Given the description of an element on the screen output the (x, y) to click on. 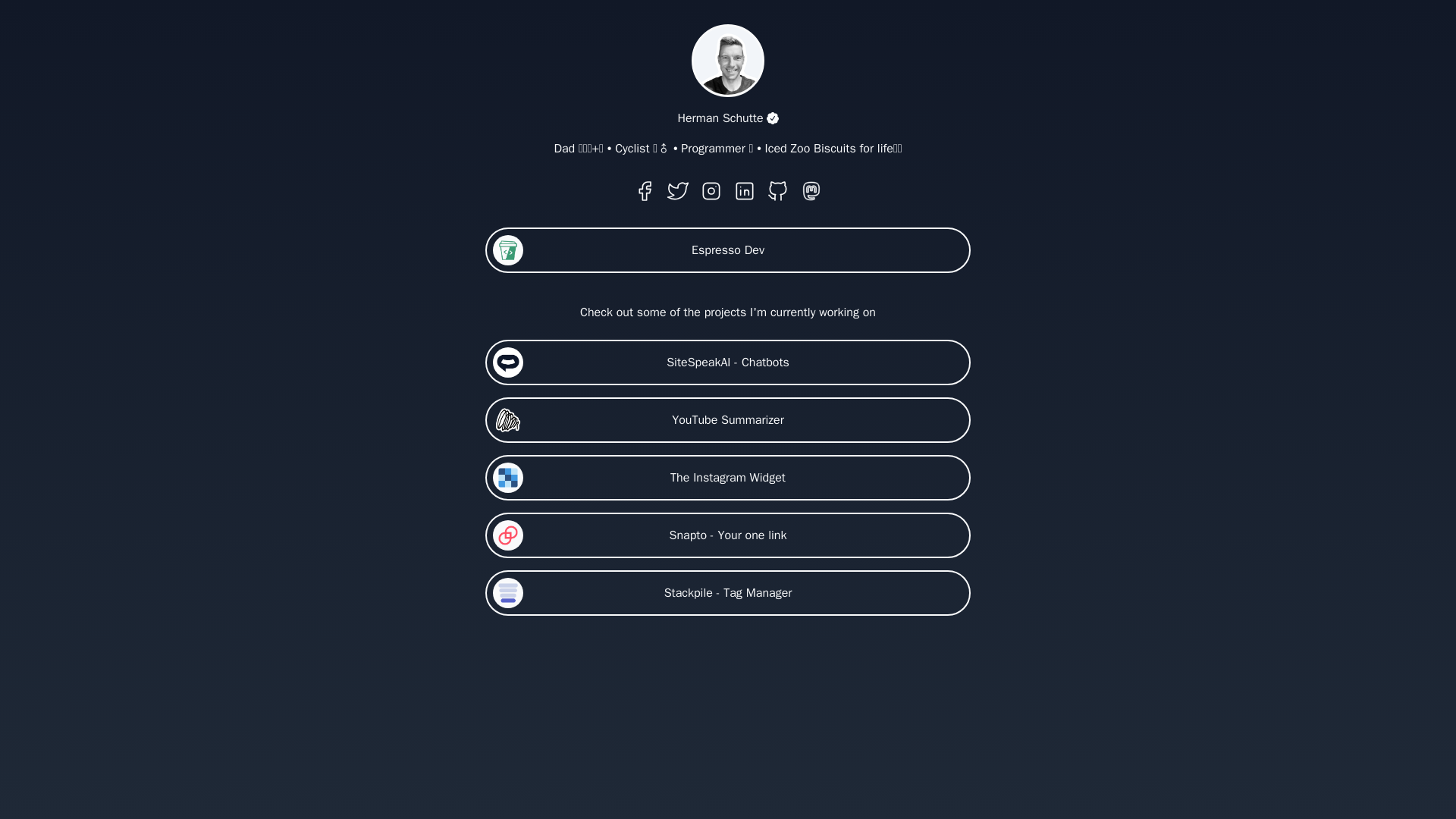
Snapto - Your one link (727, 534)
SiteSpeakAI - Chatbots (727, 361)
Stackpile - Tag Manager (727, 592)
The Instagram Widget (727, 477)
Espresso Dev (727, 249)
YouTube Summarizer (727, 420)
